Given the description of an element on the screen output the (x, y) to click on. 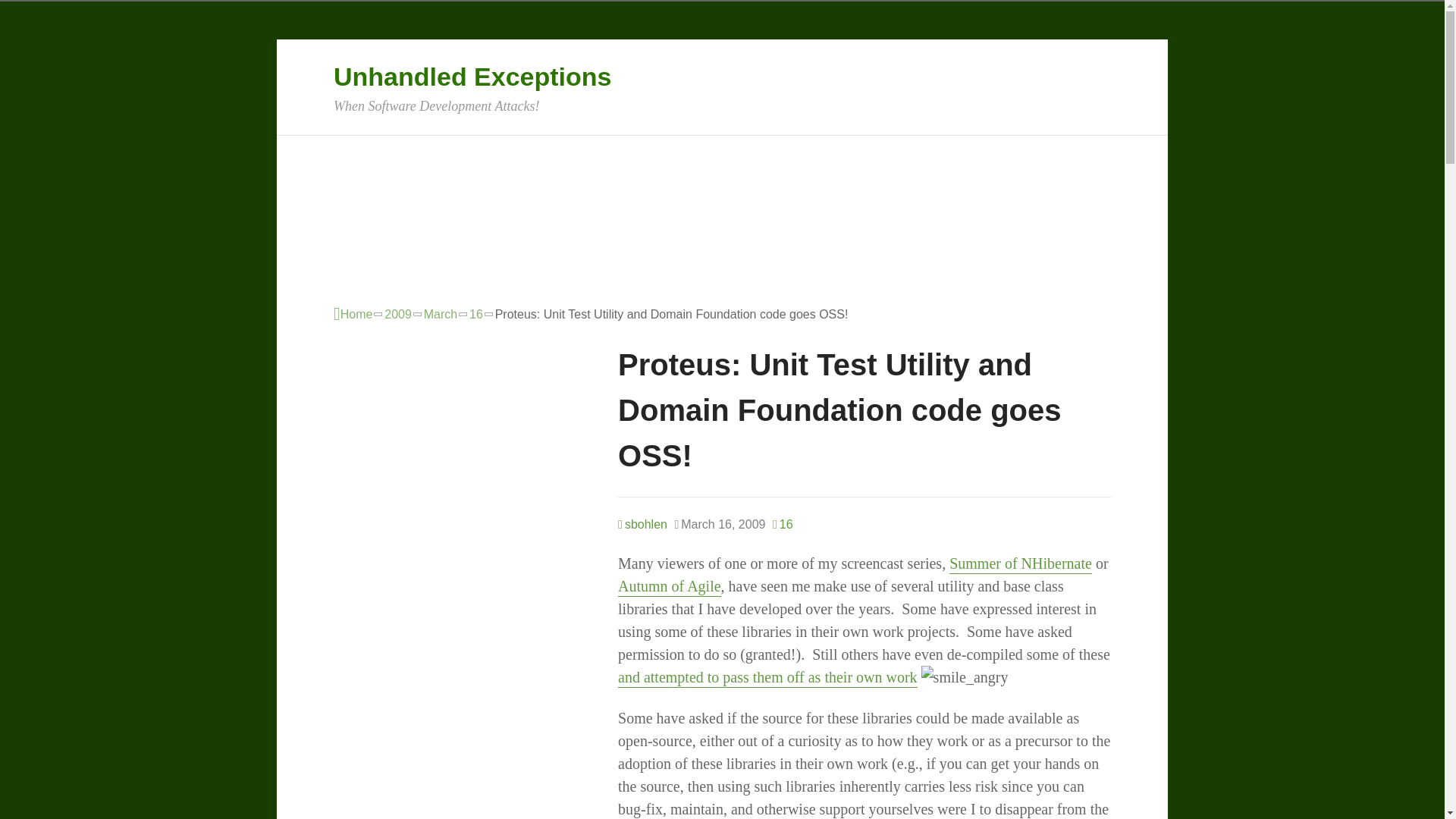
Posts by sbohlen (641, 523)
Monday, March 16, 2009, 10:26 pm (719, 524)
2009 (398, 314)
Autumn of Agile (668, 587)
sbohlen (641, 523)
March (440, 314)
Home (352, 314)
16 (783, 524)
Unhandled Exceptions (472, 76)
Summer of NHibernate (1020, 564)
